Given the description of an element on the screen output the (x, y) to click on. 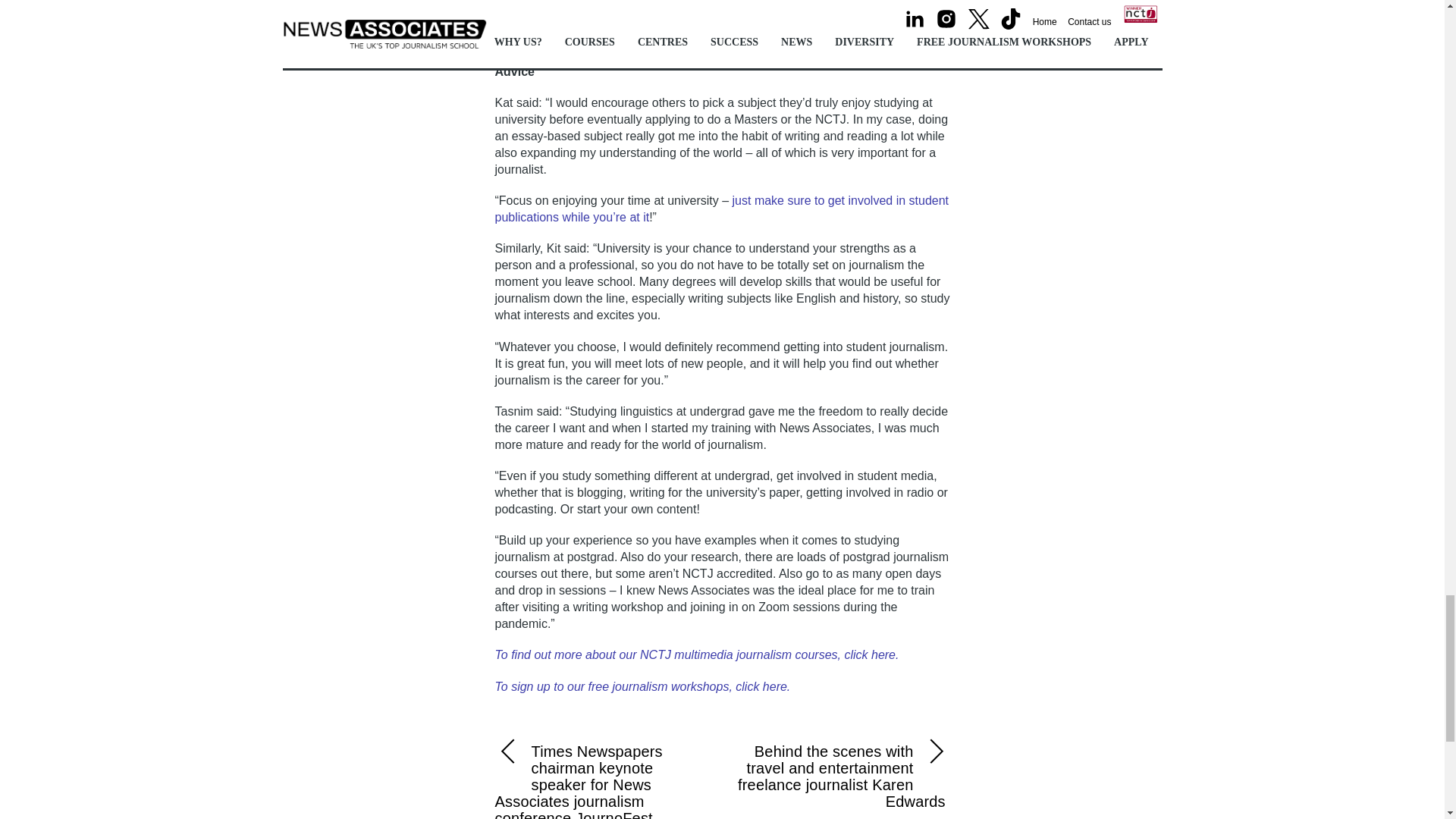
To sign up to our free journalism workshops, click here. (642, 686)
December 18, 2022 (705, 14)
